Given the description of an element on the screen output the (x, y) to click on. 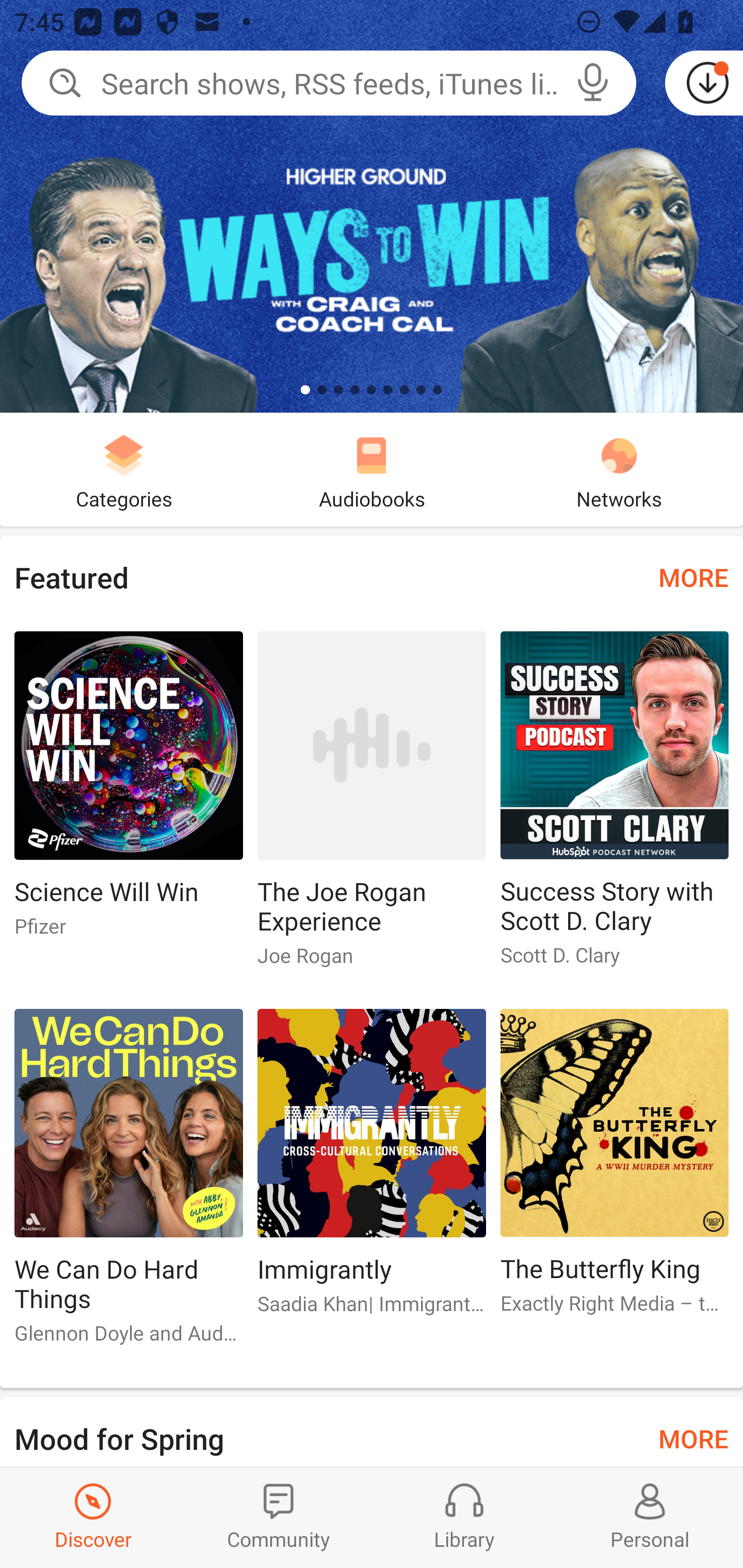
Ways To Win (371, 206)
Categories (123, 469)
Audiobooks (371, 469)
Networks (619, 469)
MORE (693, 576)
Science Will Win Science Will Win Pfizer (128, 792)
MORE (693, 1436)
Discover (92, 1517)
Community (278, 1517)
Library (464, 1517)
Profiles and Settings Personal (650, 1517)
